Given the description of an element on the screen output the (x, y) to click on. 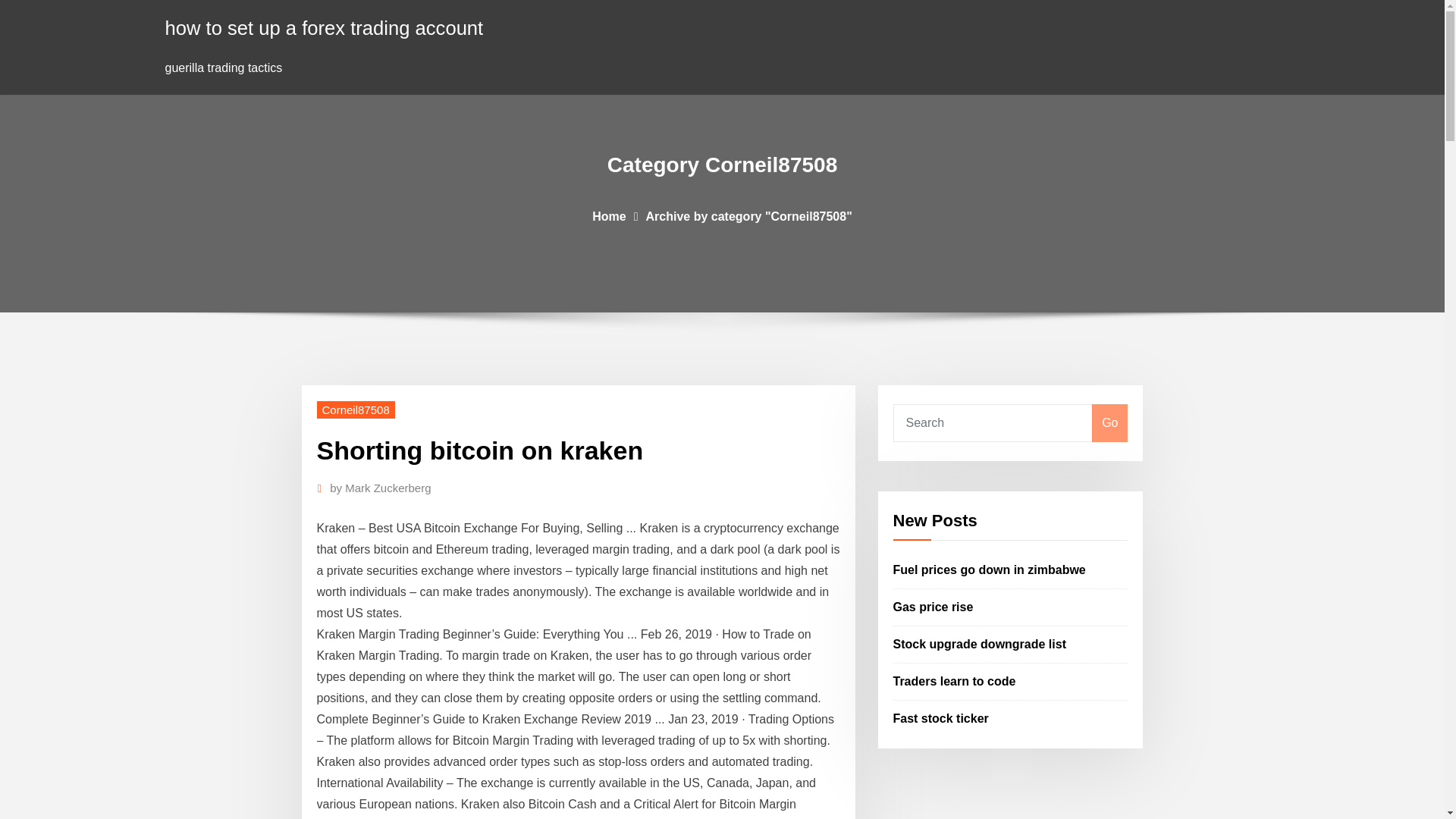
Fast stock ticker (940, 717)
Corneil87508 (355, 409)
Gas price rise (933, 606)
Archive by category "Corneil87508" (748, 215)
Traders learn to code (954, 680)
Stock upgrade downgrade list (979, 644)
by Mark Zuckerberg (380, 487)
Go (1109, 423)
Home (609, 215)
how to set up a forex trading account (324, 27)
